Given the description of an element on the screen output the (x, y) to click on. 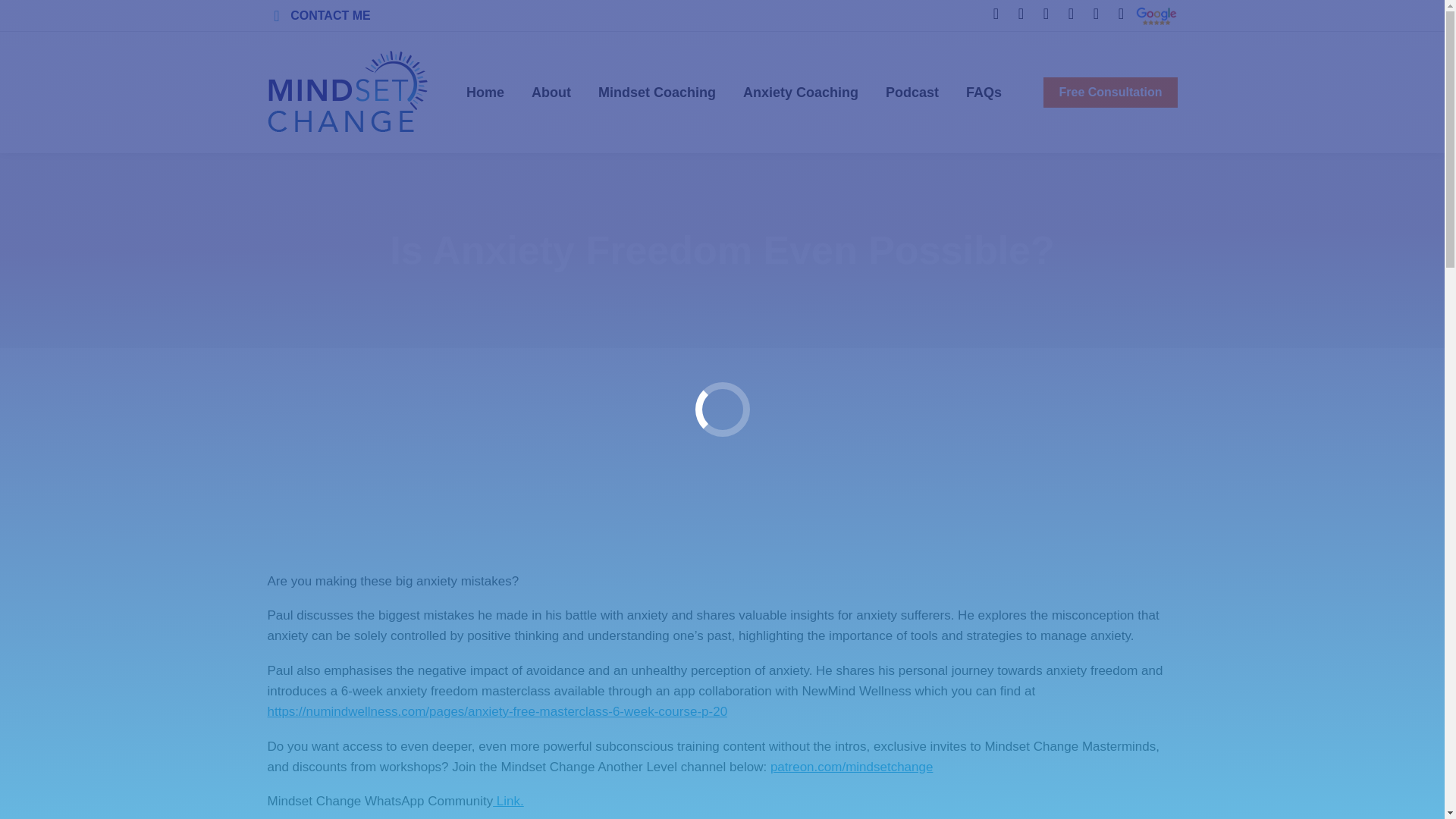
Spotify (1120, 13)
Instagram (1046, 13)
LinkedIn (1021, 13)
Link. (508, 800)
LinkedIn (1021, 13)
Instagram (1046, 13)
facebook (996, 13)
You Tube (1071, 13)
Spotify (1120, 13)
Podcast (1096, 13)
Podcast (1096, 13)
You Tube (1071, 13)
Mindset Coaching (657, 92)
Free Consultation (1109, 91)
CONTACT ME (317, 15)
